Given the description of an element on the screen output the (x, y) to click on. 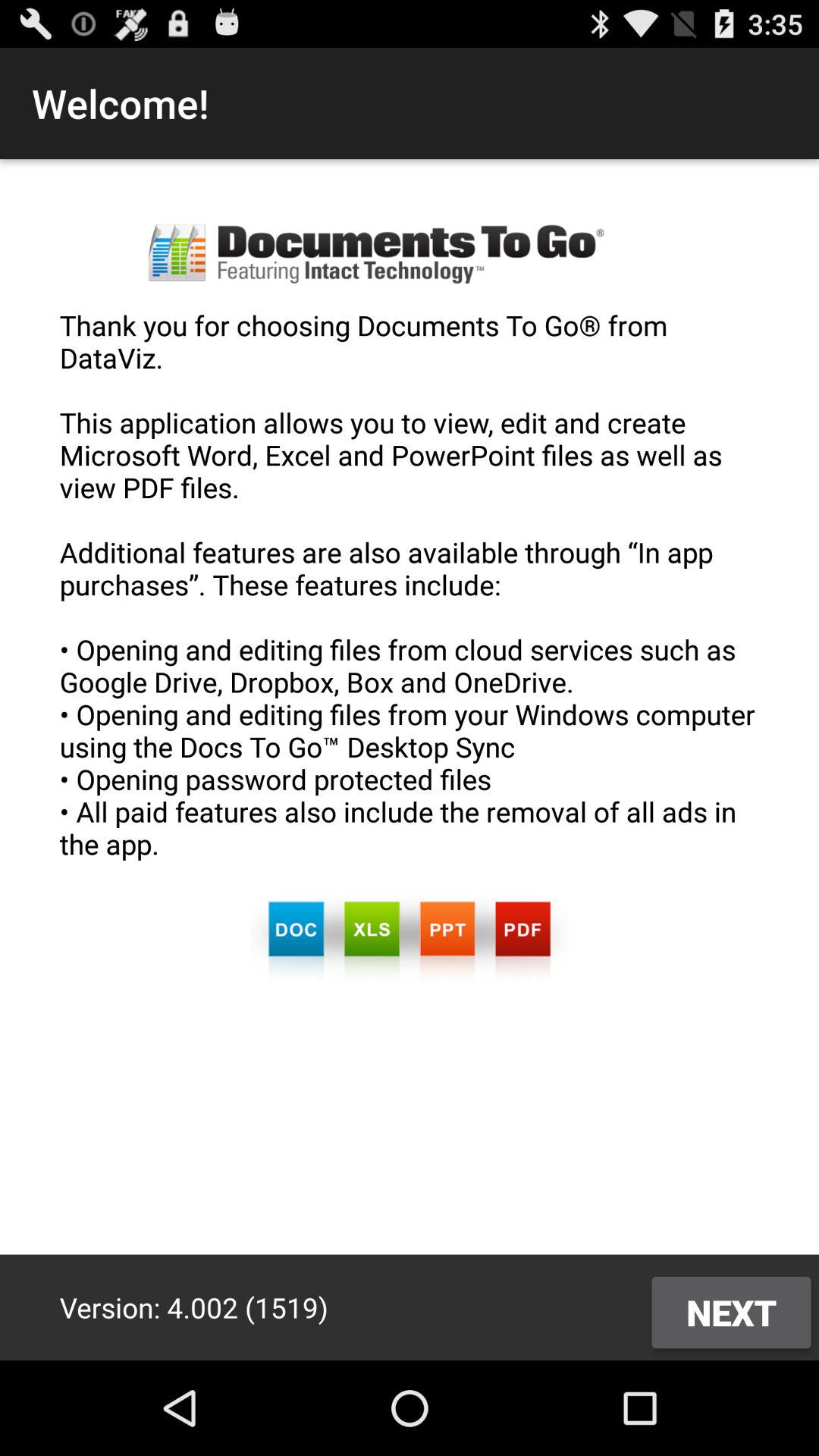
tap the next (731, 1312)
